Given the description of an element on the screen output the (x, y) to click on. 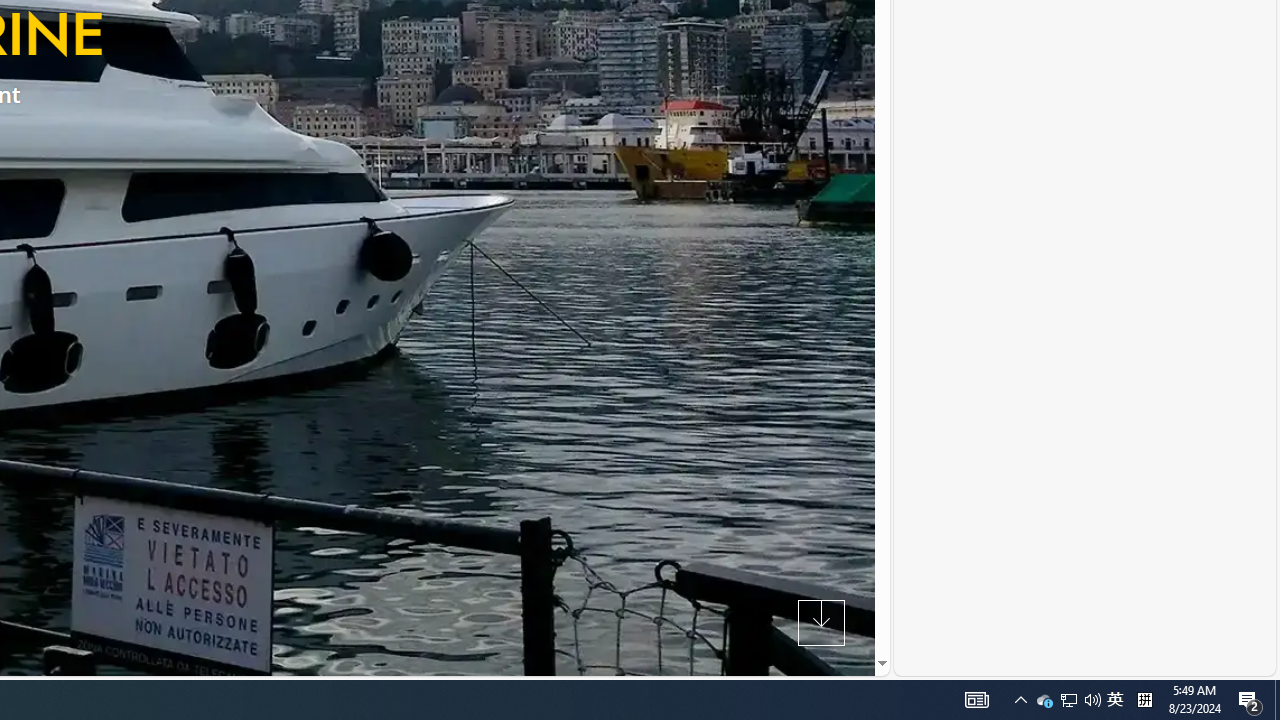
Next Section (820, 622)
